Given the description of an element on the screen output the (x, y) to click on. 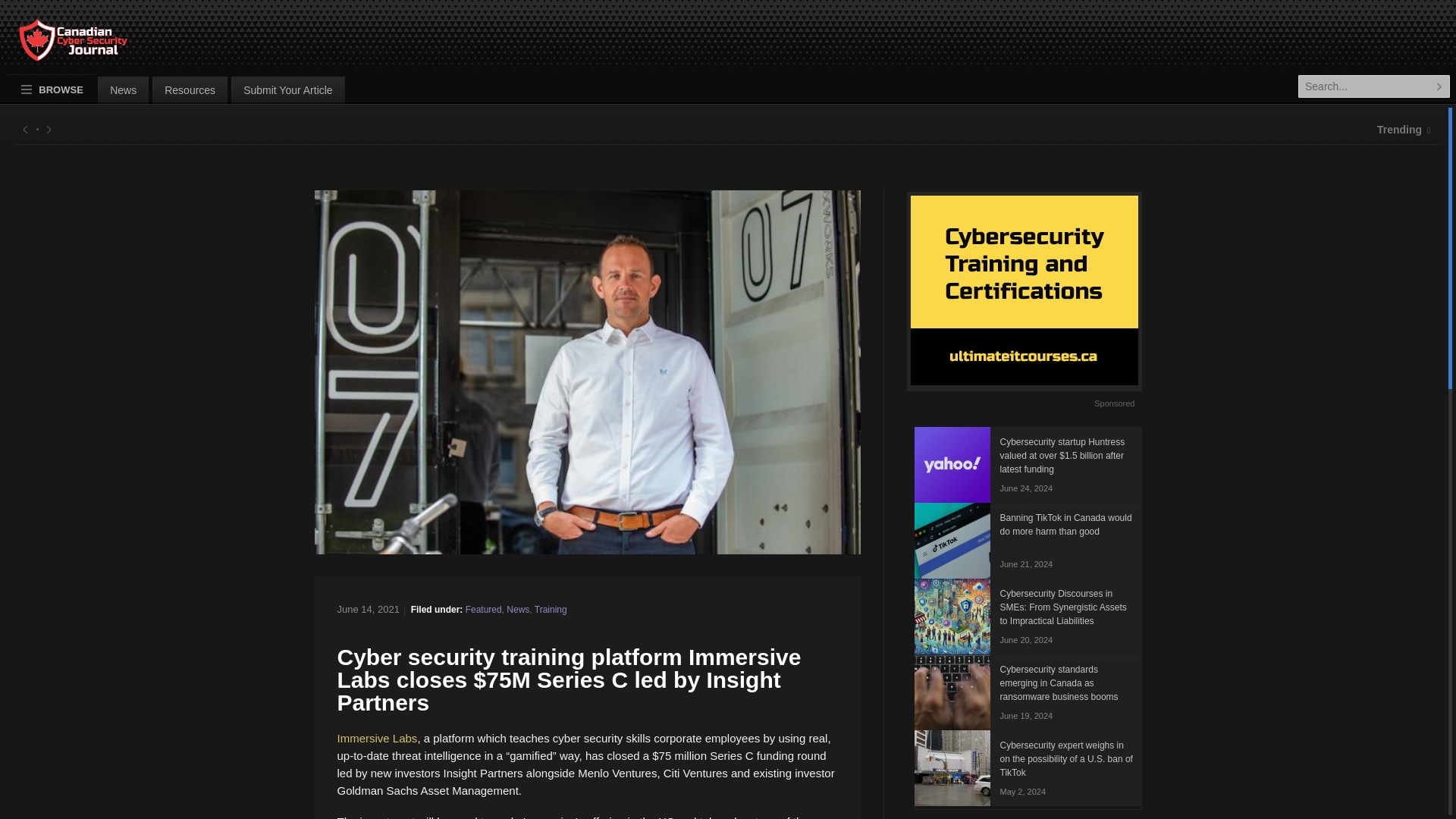
News (122, 89)
Canadian Cyber Security Journal (57, 45)
News (517, 609)
Resources (189, 89)
Submit Your Article (288, 89)
Featured (483, 609)
Immersive Labs (376, 738)
Training (550, 609)
